Given the description of an element on the screen output the (x, y) to click on. 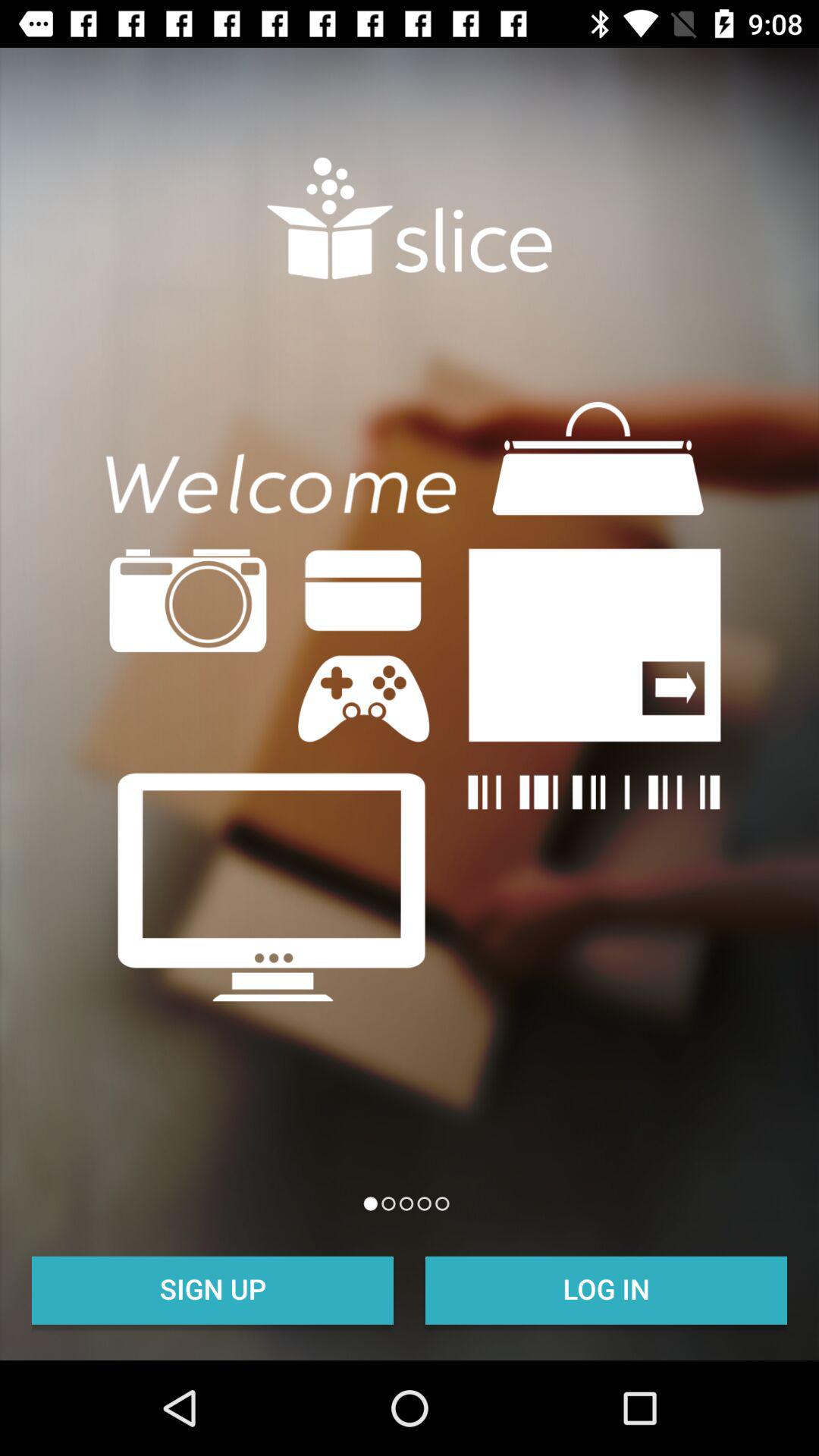
choose the sign up (212, 1288)
